Given the description of an element on the screen output the (x, y) to click on. 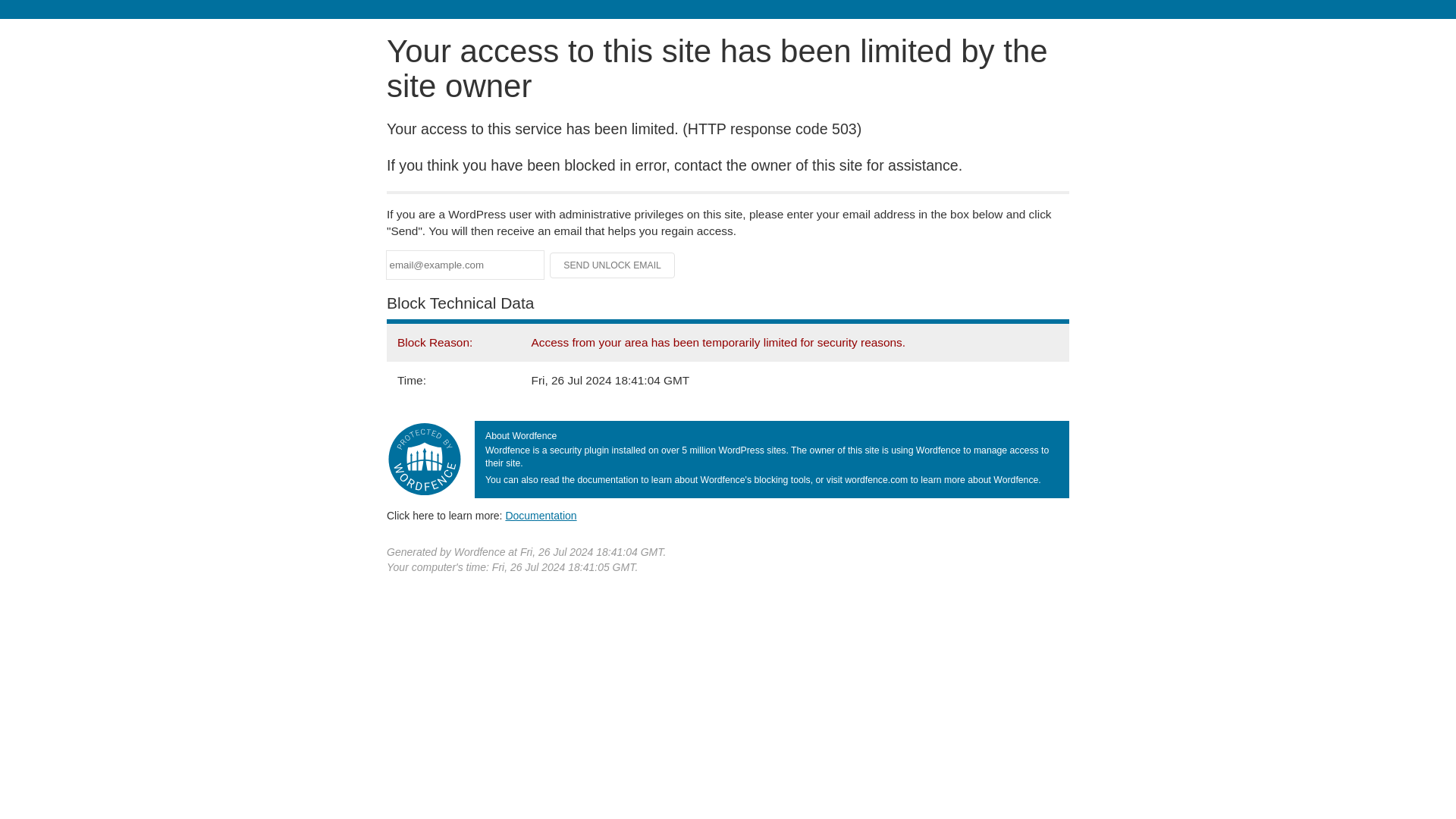
Send Unlock Email (612, 265)
Send Unlock Email (612, 265)
Documentation (540, 515)
